Given the description of an element on the screen output the (x, y) to click on. 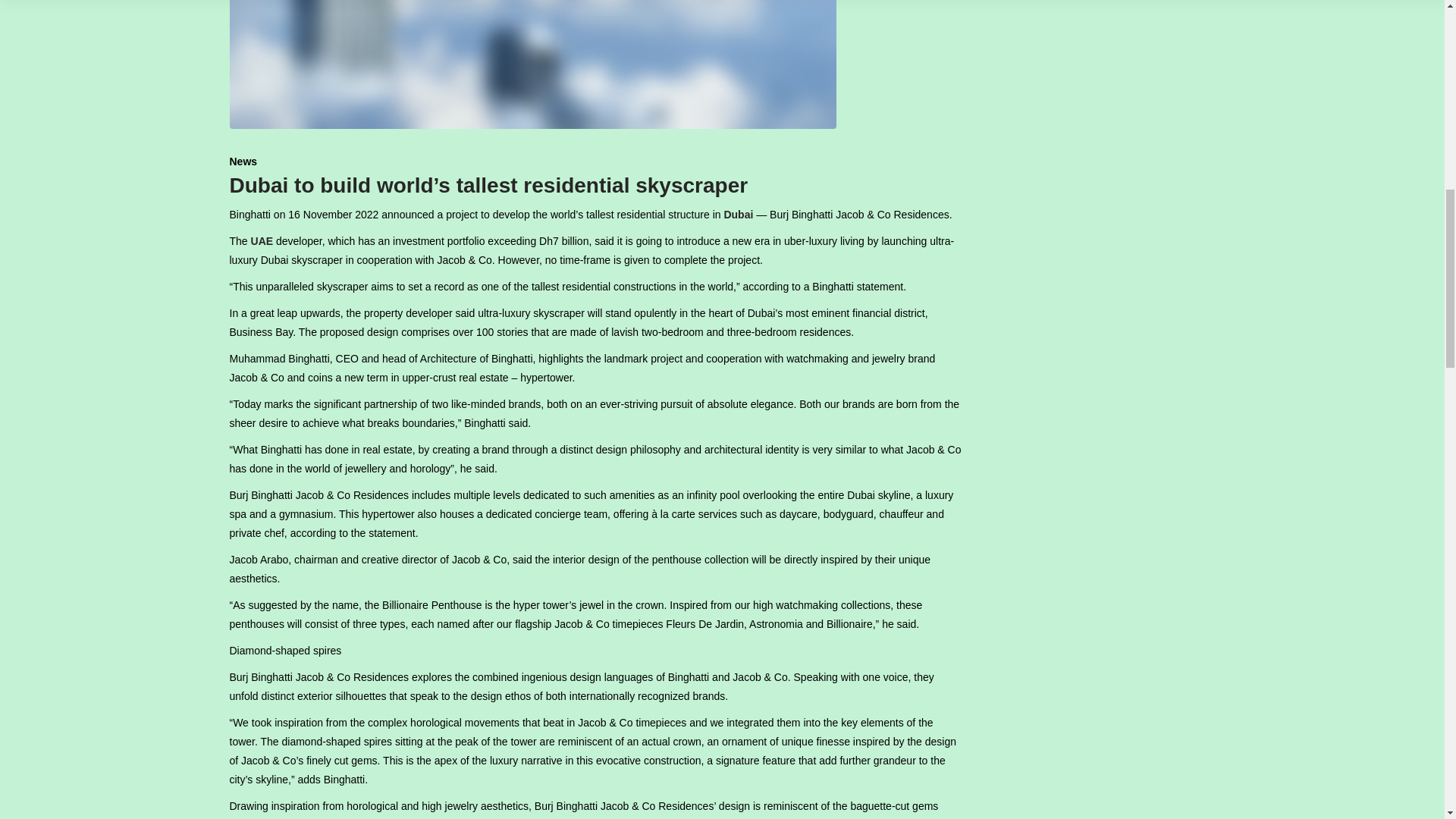
Dubai (737, 214)
News (242, 161)
UAE (261, 241)
